Given the description of an element on the screen output the (x, y) to click on. 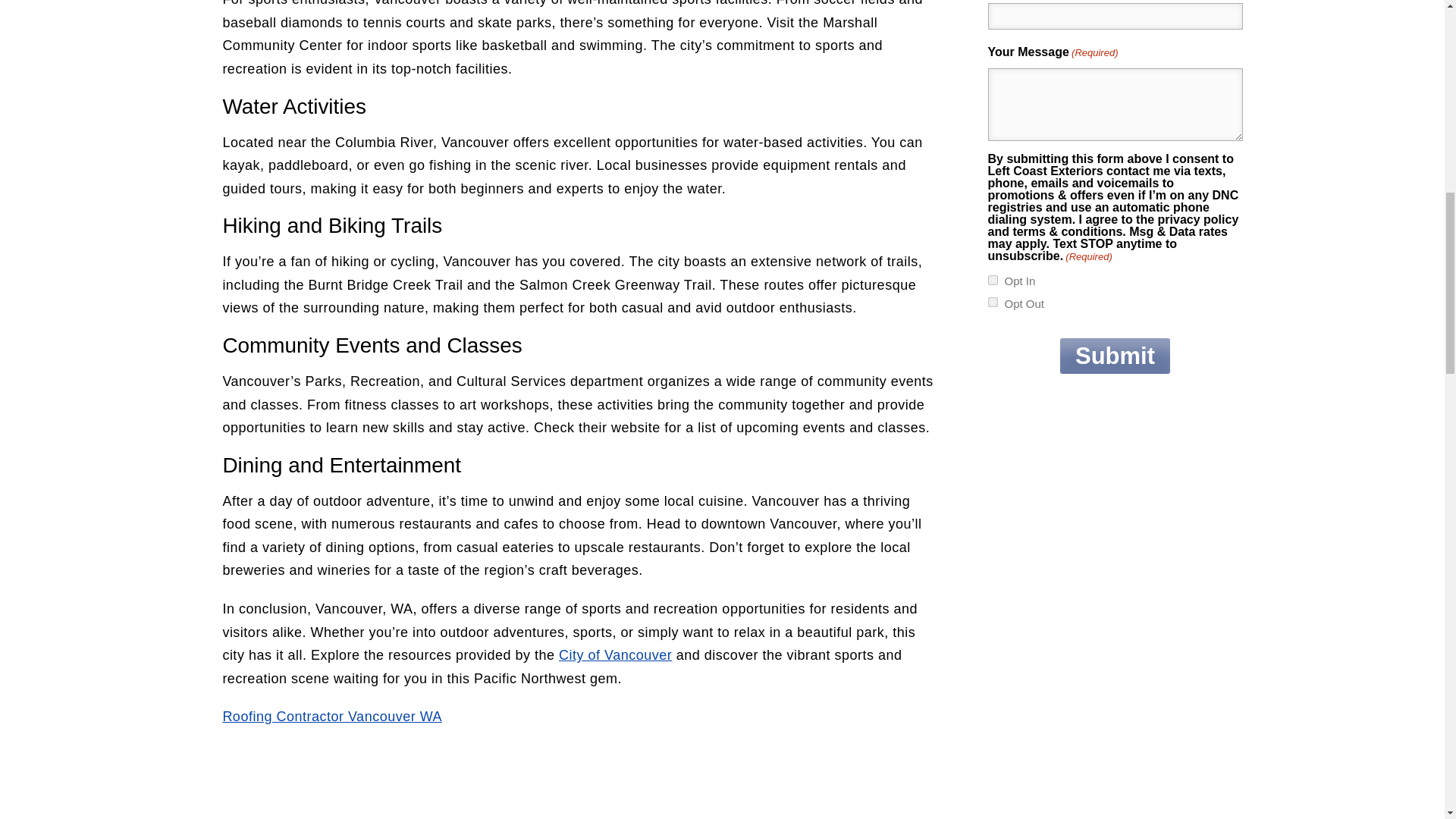
City of Vancouver (615, 654)
Opt Out (992, 302)
Roofing Contractor Vancouver WA (332, 716)
Opt In (992, 280)
Submit (1114, 355)
Submit (1114, 355)
